Given the description of an element on the screen output the (x, y) to click on. 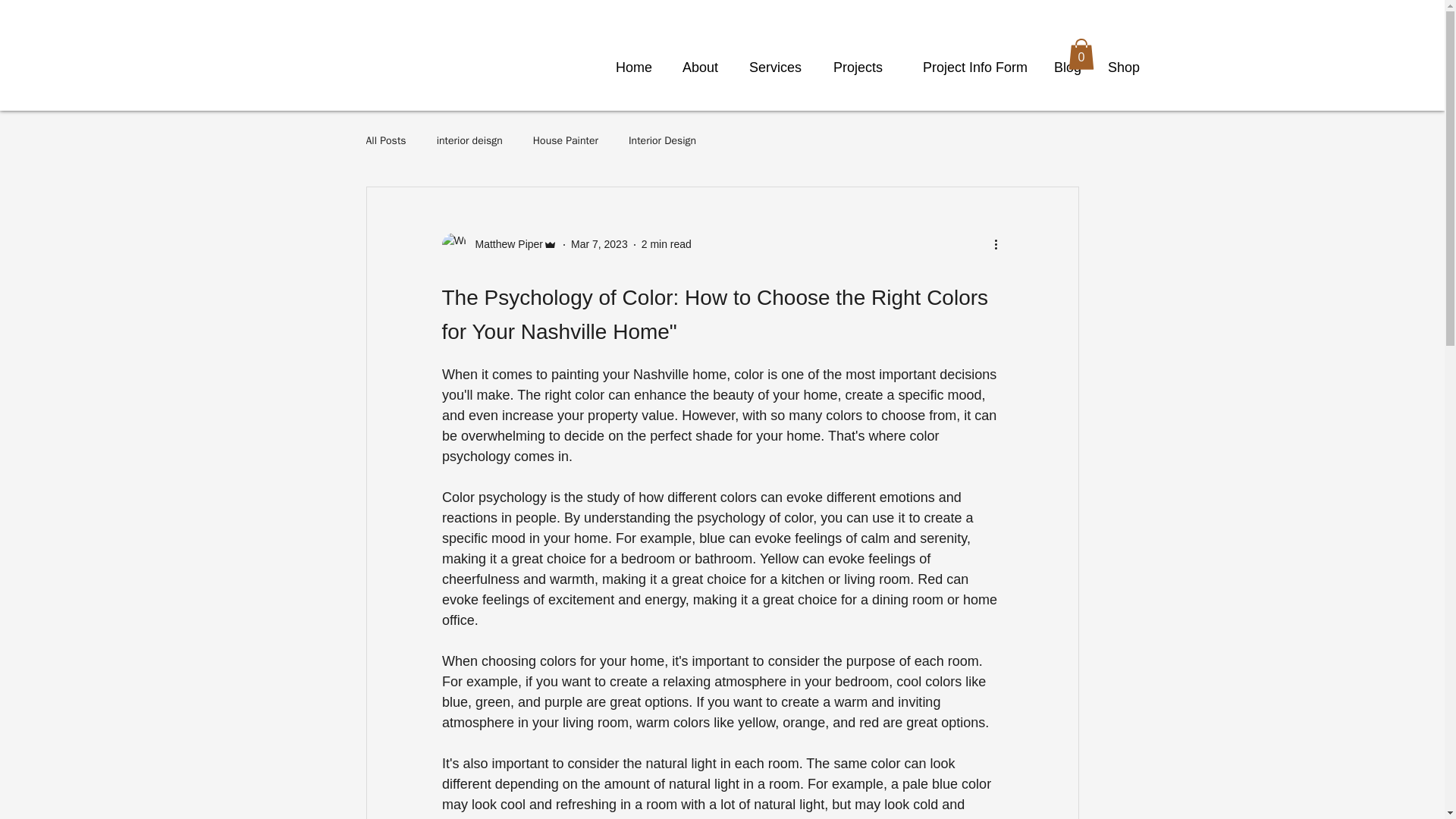
About (696, 67)
Home (630, 67)
Project Info Form (966, 67)
2 min read (666, 244)
Matthew Piper (498, 244)
Shop (1122, 67)
Services (770, 67)
Blog (1066, 67)
Projects (852, 67)
All Posts (385, 141)
Interior Design (661, 141)
Mar 7, 2023 (598, 244)
interior deisgn (469, 141)
House Painter (565, 141)
Matthew Piper (503, 244)
